Given the description of an element on the screen output the (x, y) to click on. 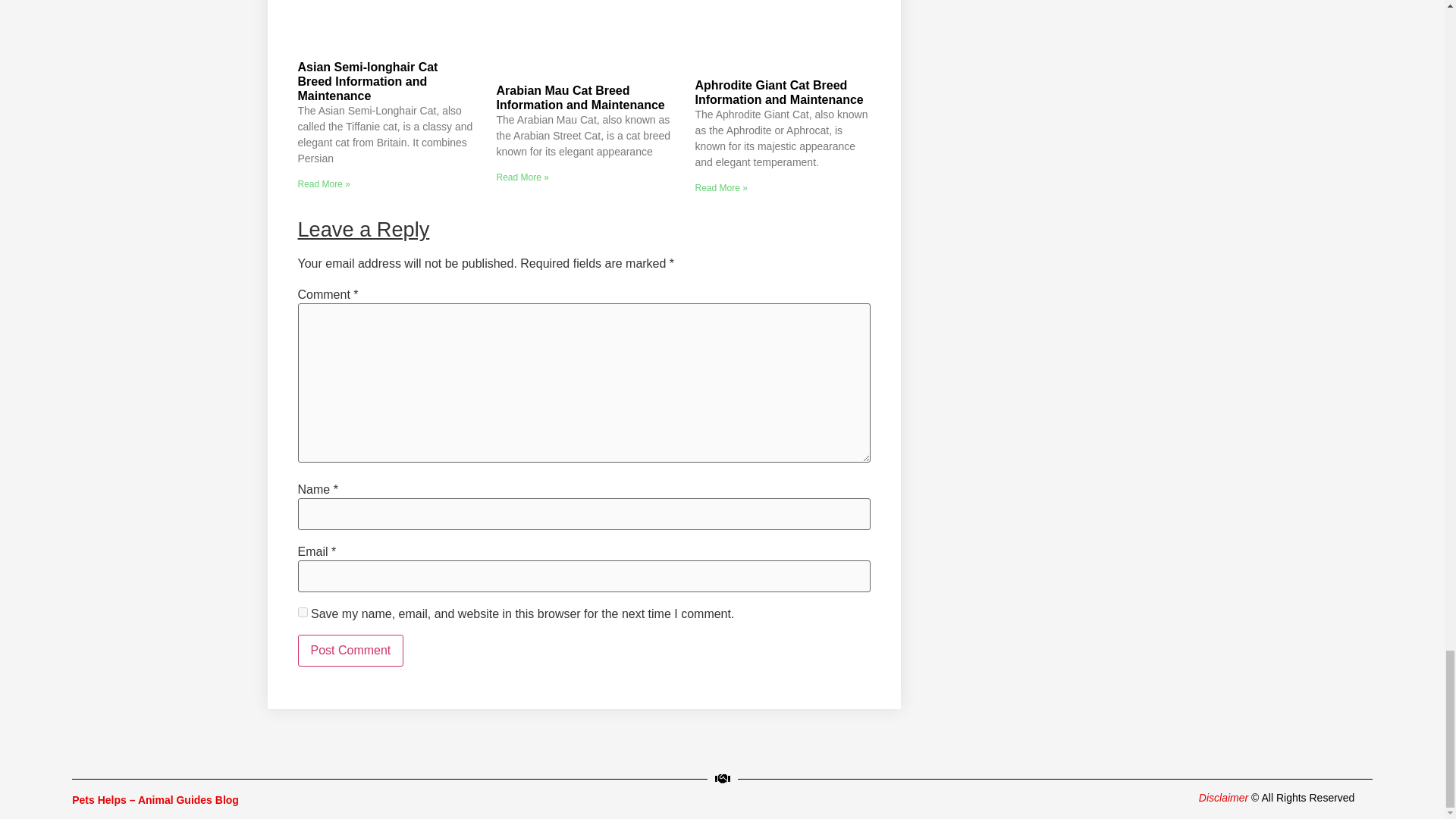
Asian Semi-longhair Cat Breed Information and Maintenance (367, 81)
Post Comment (350, 650)
yes (302, 612)
